Given the description of an element on the screen output the (x, y) to click on. 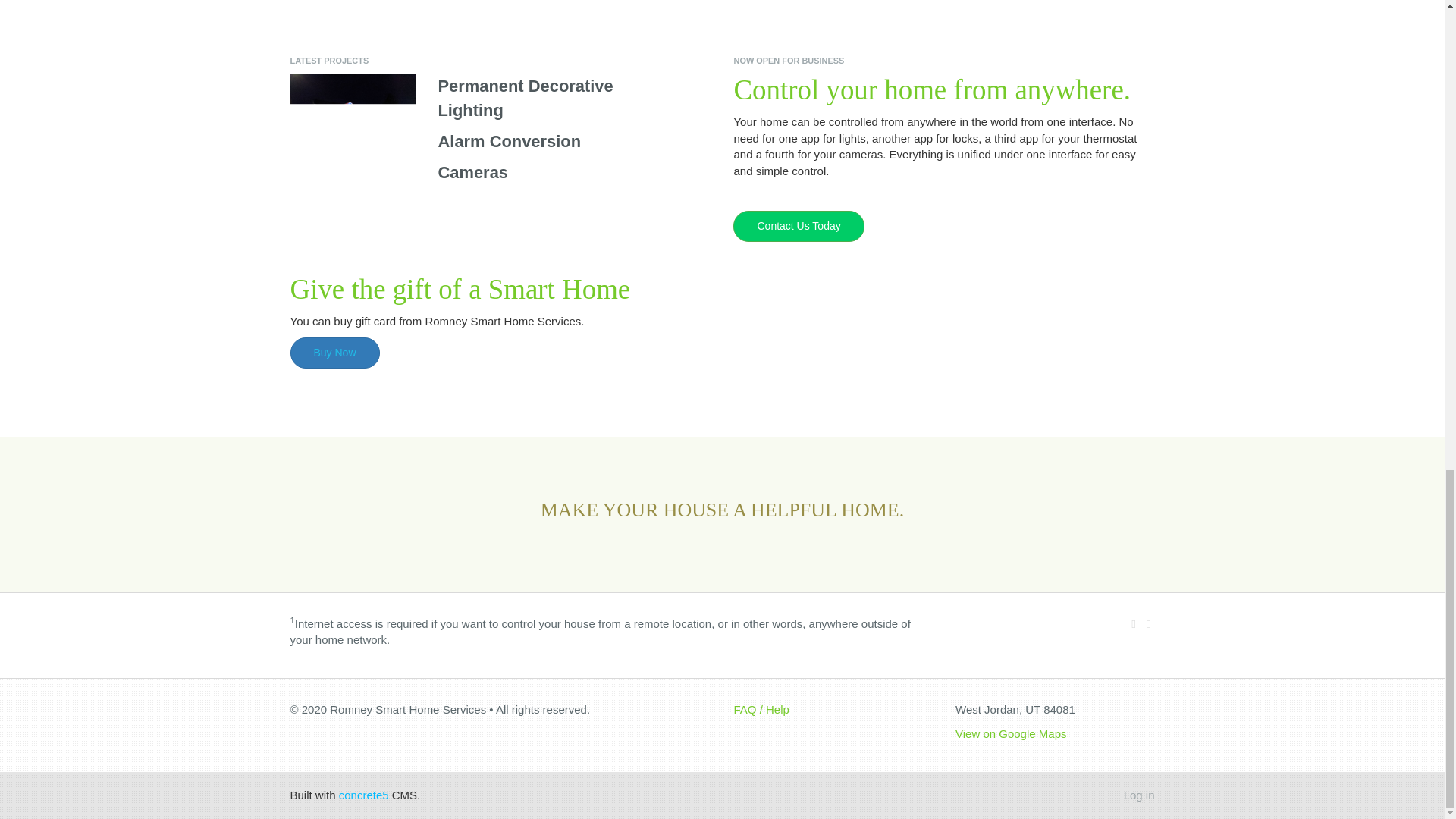
Log in (1139, 794)
Contact Us Today (798, 224)
Buy Now (335, 351)
View on Google Maps (1010, 733)
Cameras (473, 171)
Alarm Conversion (509, 140)
Permanent Decorative Lighting (525, 97)
concrete5 (363, 794)
